Given the description of an element on the screen output the (x, y) to click on. 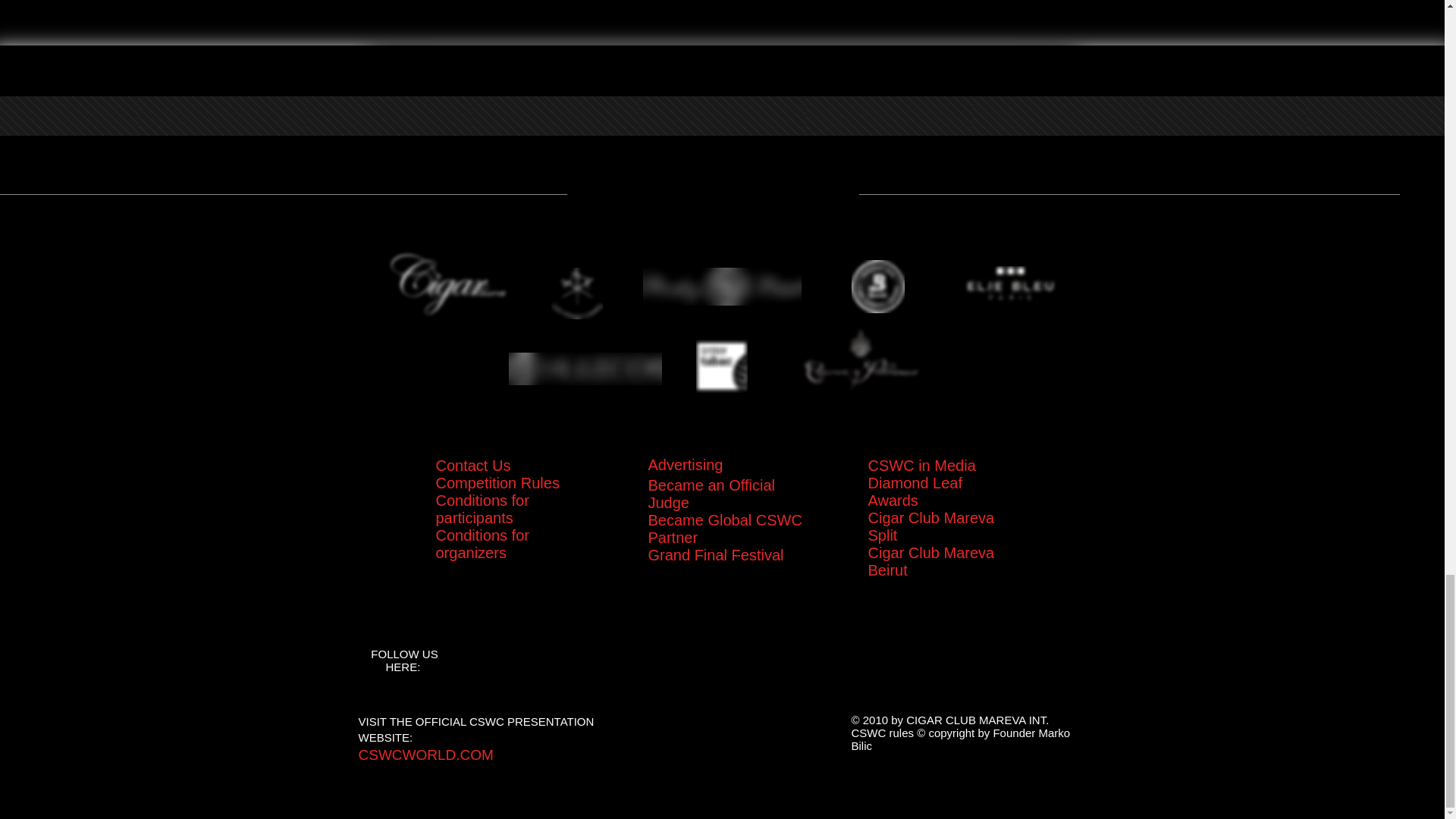
Grand Final Festival (715, 555)
Became Global CSWC Partner (724, 528)
Advertising (684, 459)
Competition Rules (497, 483)
CSWC in Media (921, 465)
Cigar Club Mareva Beirut (930, 561)
Diamond Leaf Awards (914, 491)
Conditions for participants (481, 509)
Cigar Club Mareva Split (930, 526)
Conditions for organizers (481, 544)
